Given the description of an element on the screen output the (x, y) to click on. 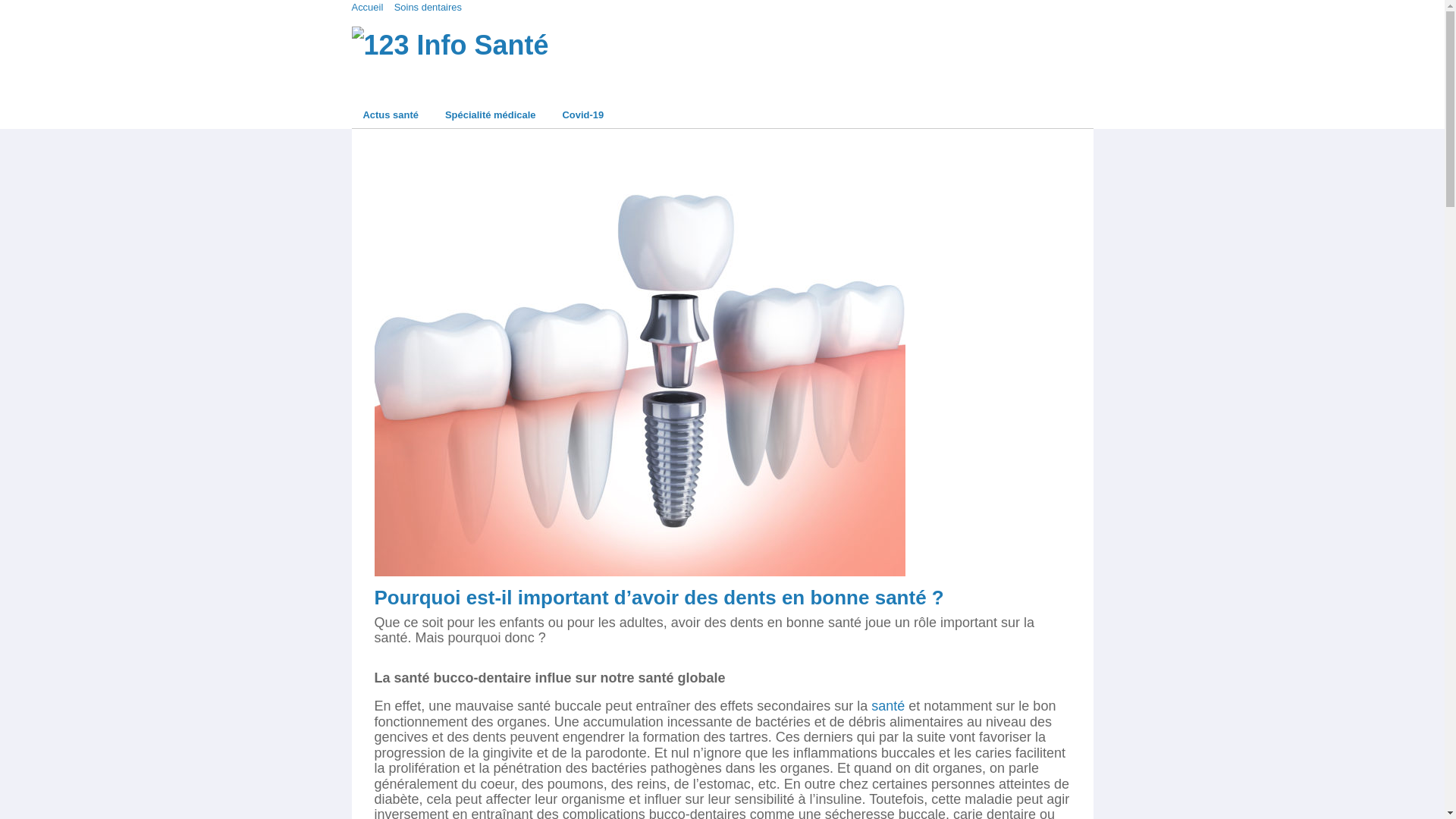
Covid-19 Element type: text (582, 114)
Soins dentaires Element type: text (427, 6)
Accueil Element type: text (367, 6)
